Given the description of an element on the screen output the (x, y) to click on. 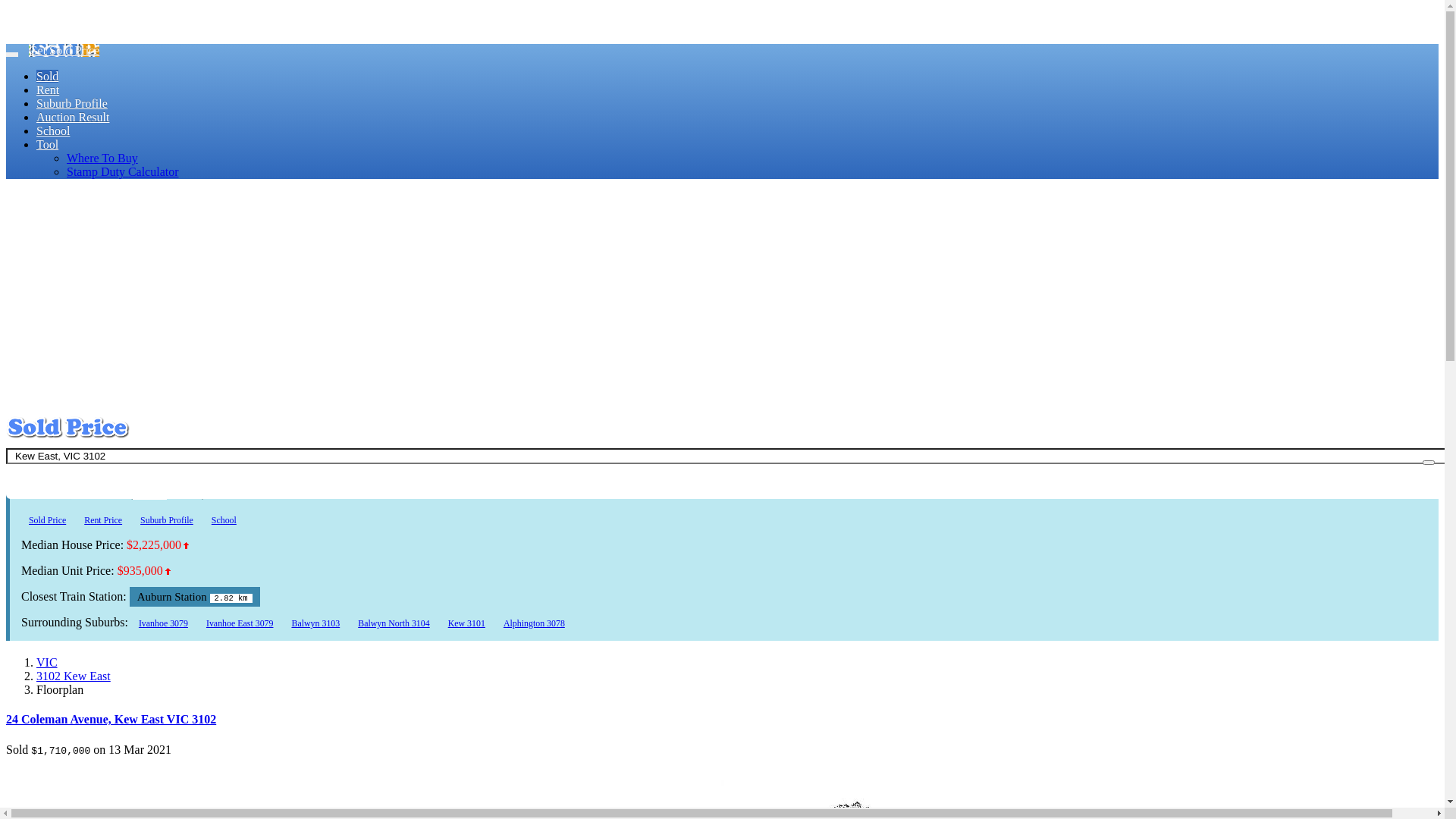
Tool Element type: text (47, 144)
Sold Element type: text (47, 75)
Suburb Profile Element type: text (166, 520)
Ivanhoe 3079 Element type: text (163, 623)
School Element type: text (52, 130)
Kew 3101 Element type: text (466, 623)
Ivanhoe East 3079 Element type: text (239, 623)
Suburb Profile Element type: text (71, 103)
Balwyn 3103 Element type: text (315, 623)
Balwyn North 3104 Element type: text (393, 623)
Auction Result Element type: text (72, 116)
School Element type: text (223, 520)
Where To Buy Element type: text (102, 157)
Advertisement Element type: hover (721, 297)
Stamp Duty Calculator Element type: text (122, 171)
Get Sold Price Element type: text (63, 49)
3102 Kew East Element type: text (73, 675)
VIC Element type: text (46, 661)
Sold Price Element type: text (47, 520)
Alphington 3078 Element type: text (533, 623)
24 Coleman Avenue, Kew East VIC 3102 Element type: text (111, 718)
Rent Price Element type: text (102, 520)
Rent Element type: text (47, 89)
